Given the description of an element on the screen output the (x, y) to click on. 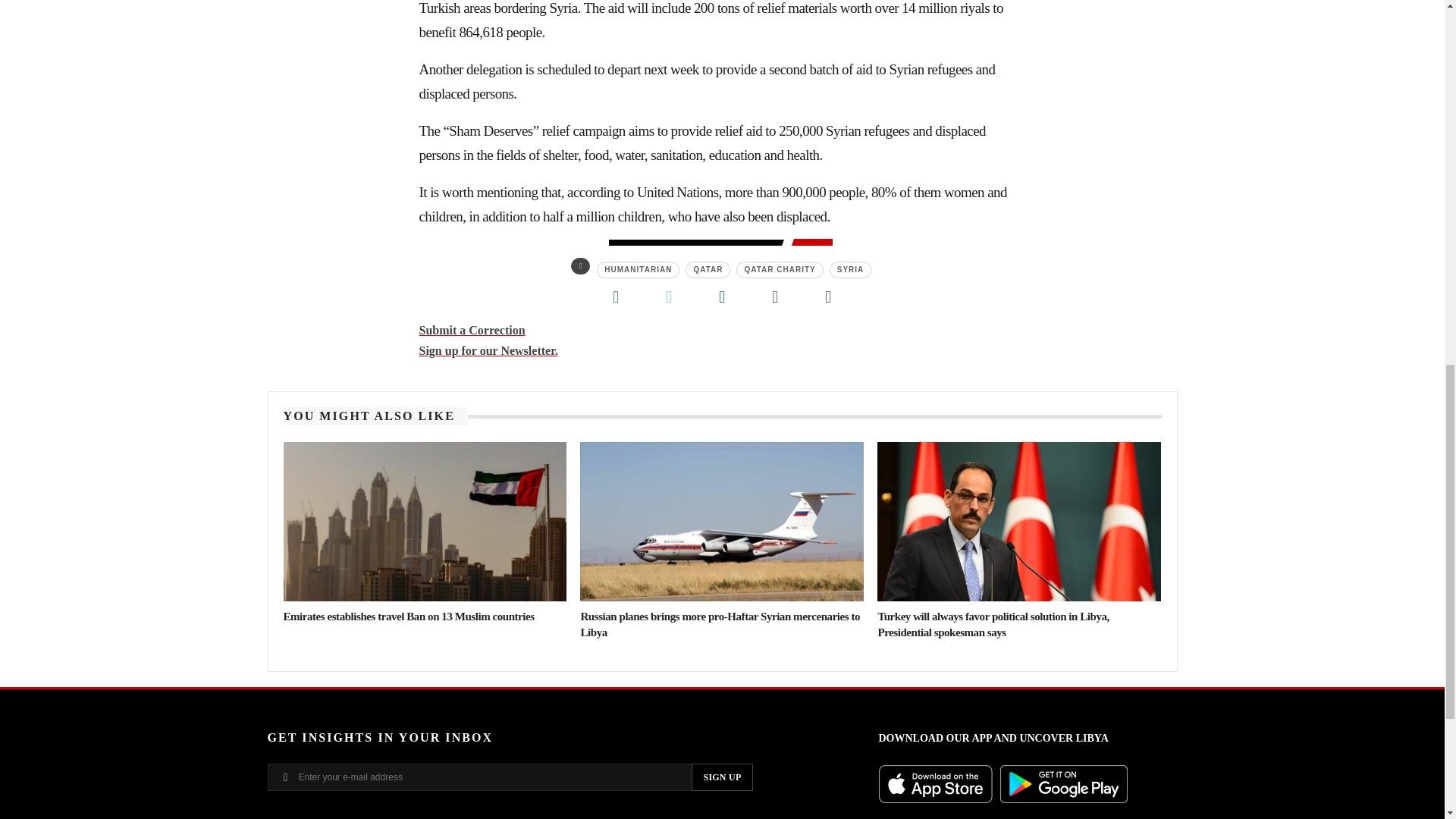
HUMANITARIAN (637, 269)
QATAR CHARITY (779, 269)
Sign Up (721, 777)
QATAR (707, 269)
